Given the description of an element on the screen output the (x, y) to click on. 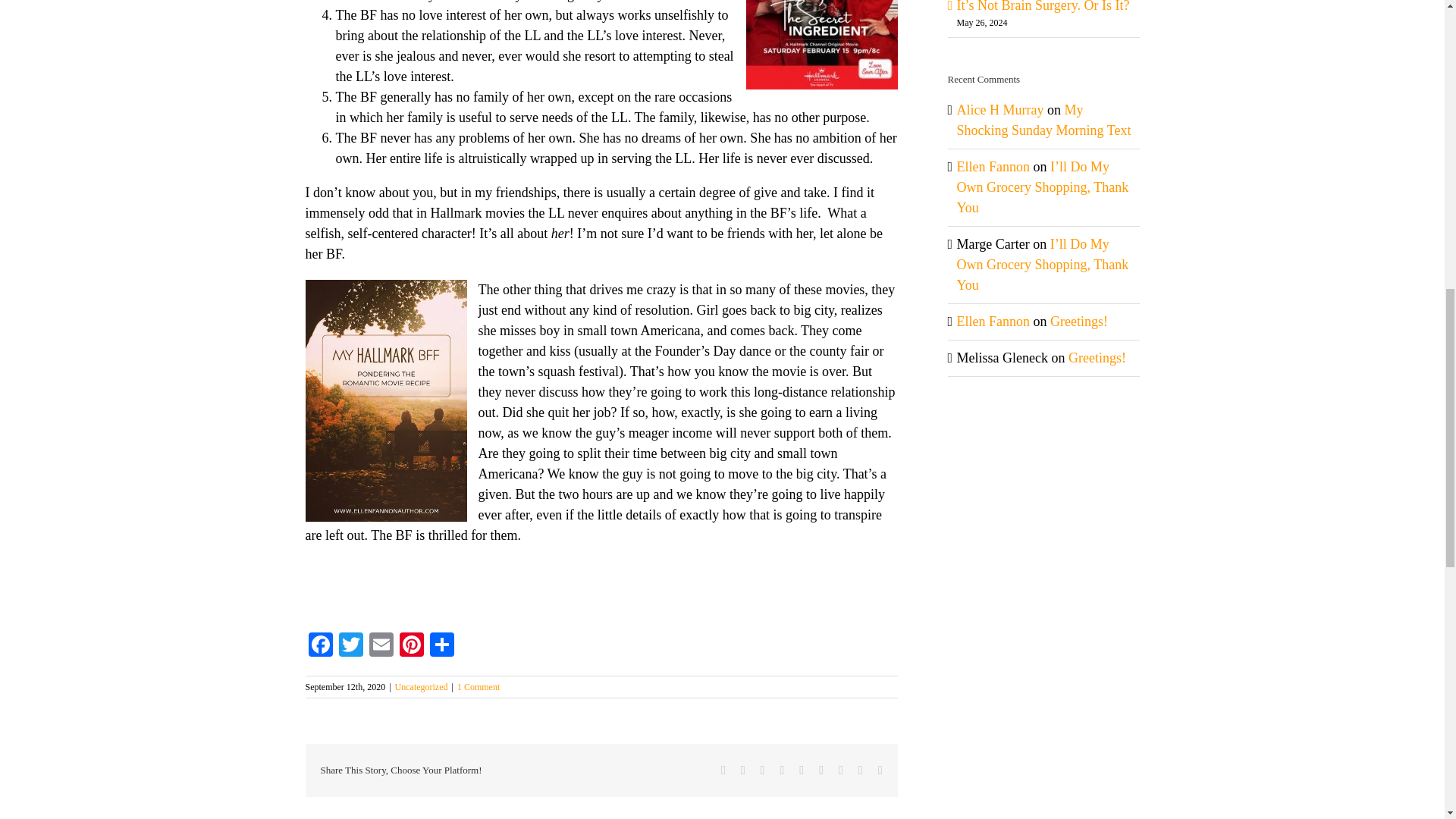
Twitter (349, 646)
Facebook (319, 646)
Pinterest (411, 646)
Email (380, 646)
Email (380, 646)
Uncategorized (421, 686)
Facebook (319, 646)
Pinterest (411, 646)
Twitter (349, 646)
1 Comment (478, 686)
